Given the description of an element on the screen output the (x, y) to click on. 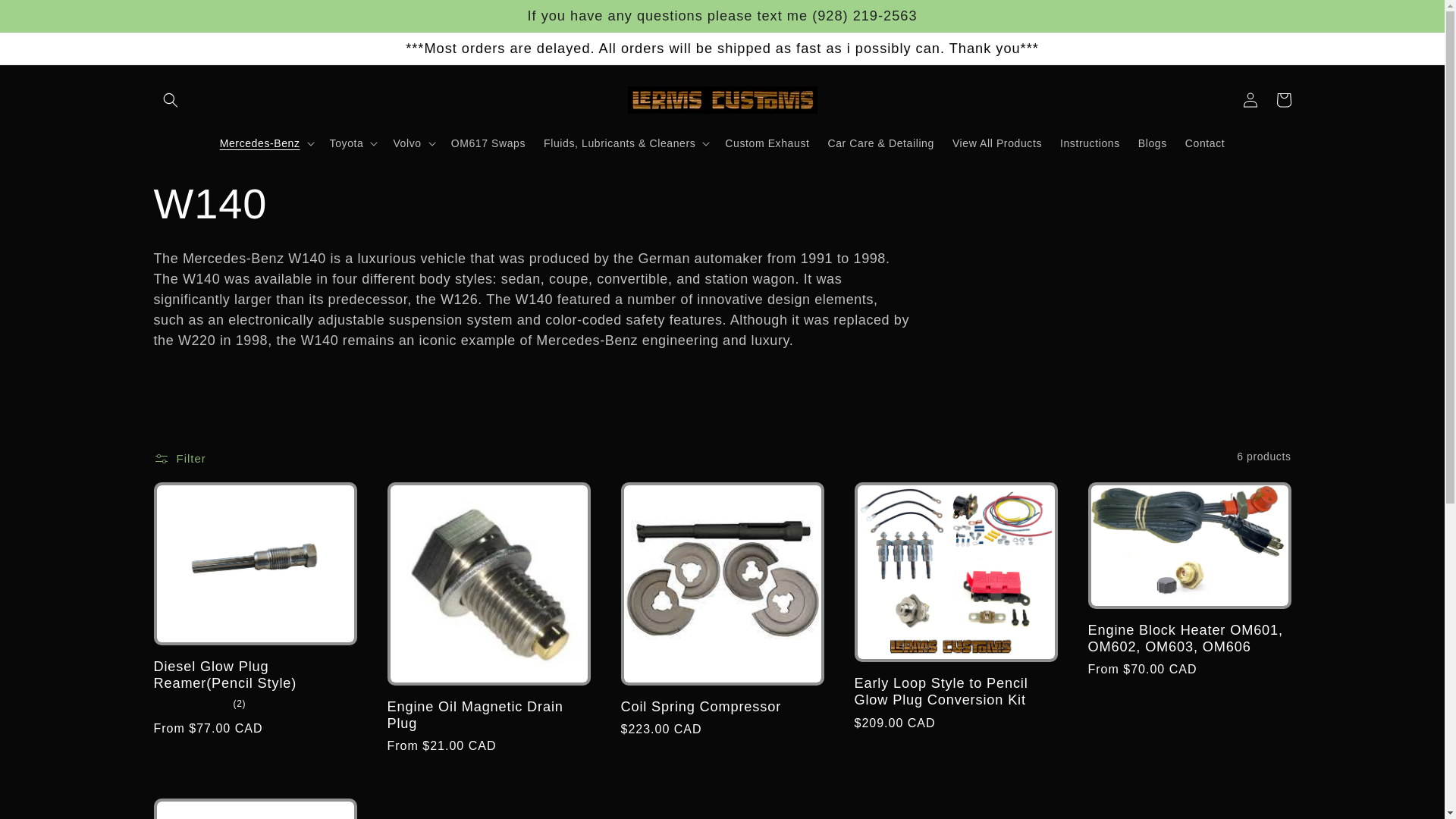
Skip to content (48, 19)
